Given the description of an element on the screen output the (x, y) to click on. 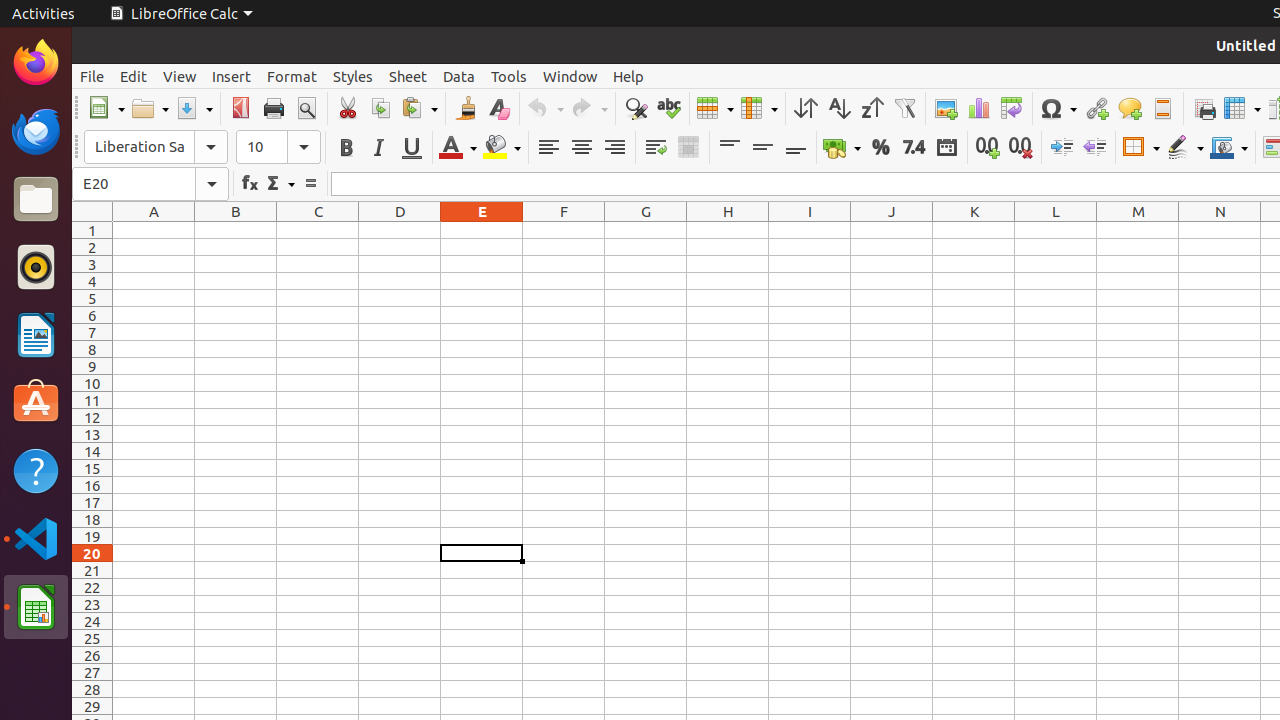
Select Function Element type: push-button (280, 183)
Center Vertically Element type: push-button (762, 147)
Bold Element type: toggle-button (345, 147)
Pivot Table Element type: push-button (1011, 108)
Number Element type: push-button (913, 147)
